Given the description of an element on the screen output the (x, y) to click on. 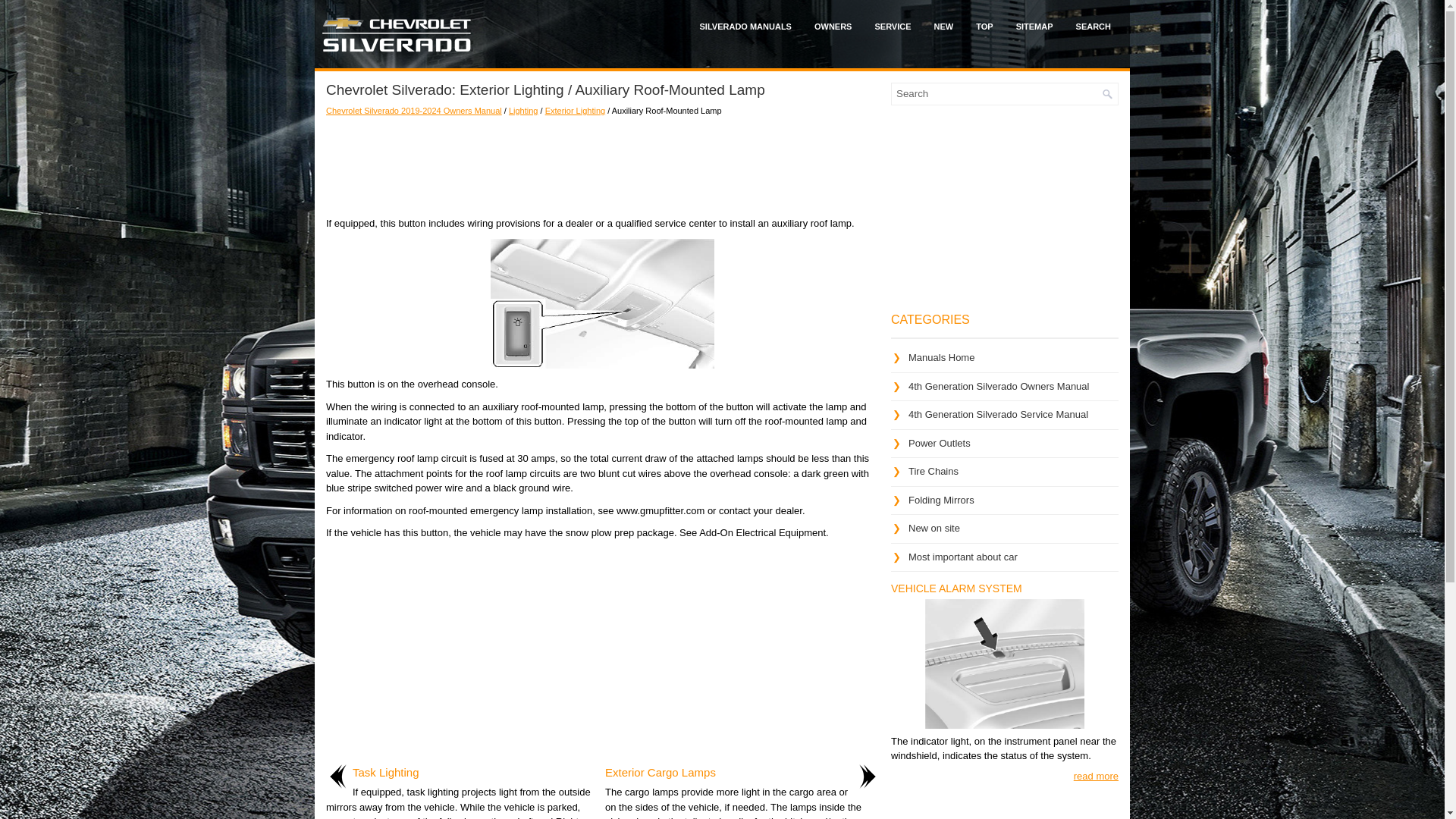
Power Outlets (939, 441)
Most important about car (962, 555)
Manuals Home (941, 357)
New on site (933, 527)
Folding Mirrors (941, 500)
Advertisement (602, 653)
Chevrolet Silverado Service Manual (892, 26)
read more (1096, 776)
SERVICE (892, 26)
Tire Chains (933, 471)
OWNERS (833, 26)
Lighting (523, 110)
Chevrolet Silverado Owners Manual (1004, 390)
SILVERADO MANUALS (745, 26)
Exterior Lighting (574, 110)
